Given the description of an element on the screen output the (x, y) to click on. 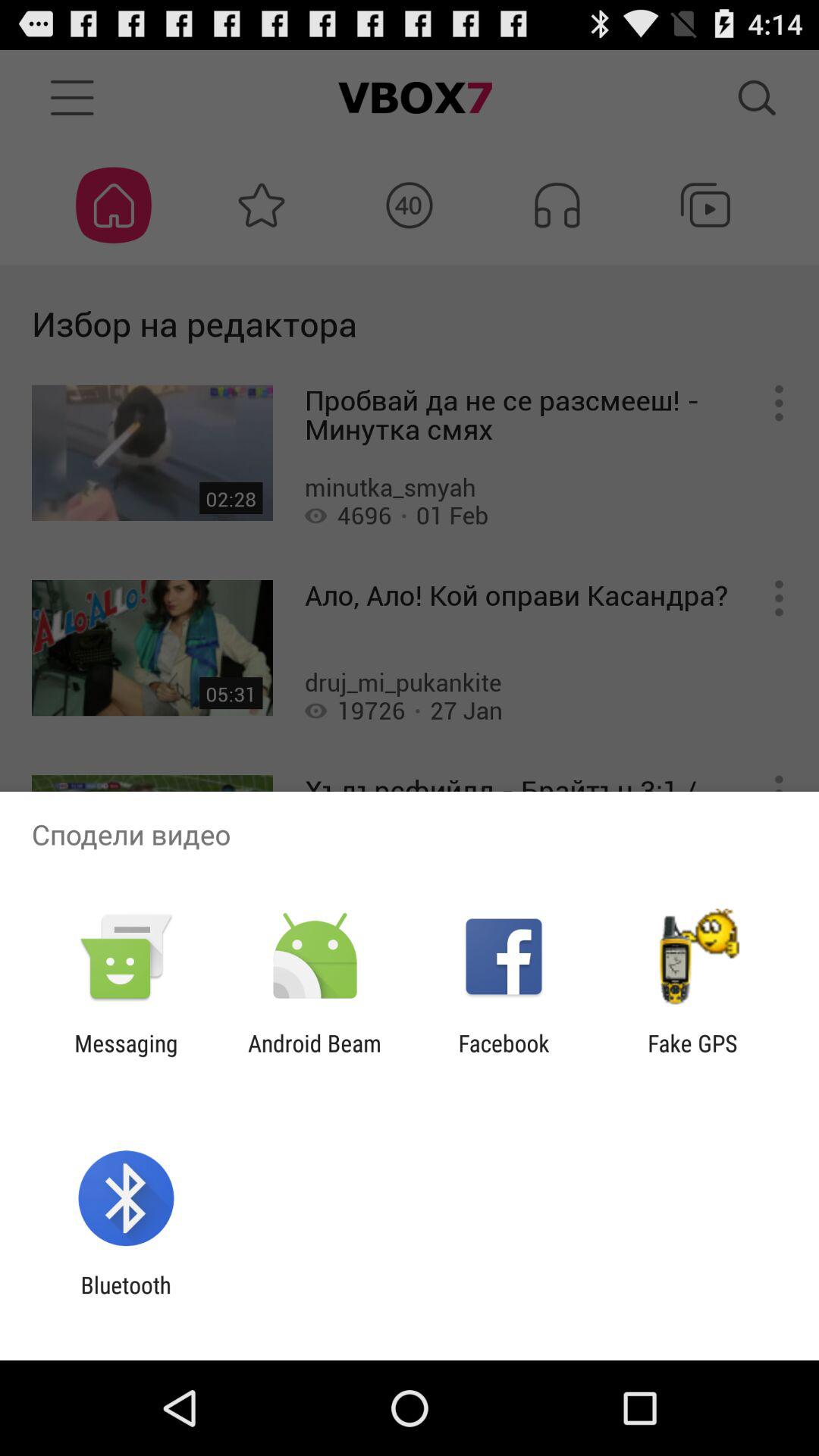
launch the icon next to messaging icon (314, 1056)
